Given the description of an element on the screen output the (x, y) to click on. 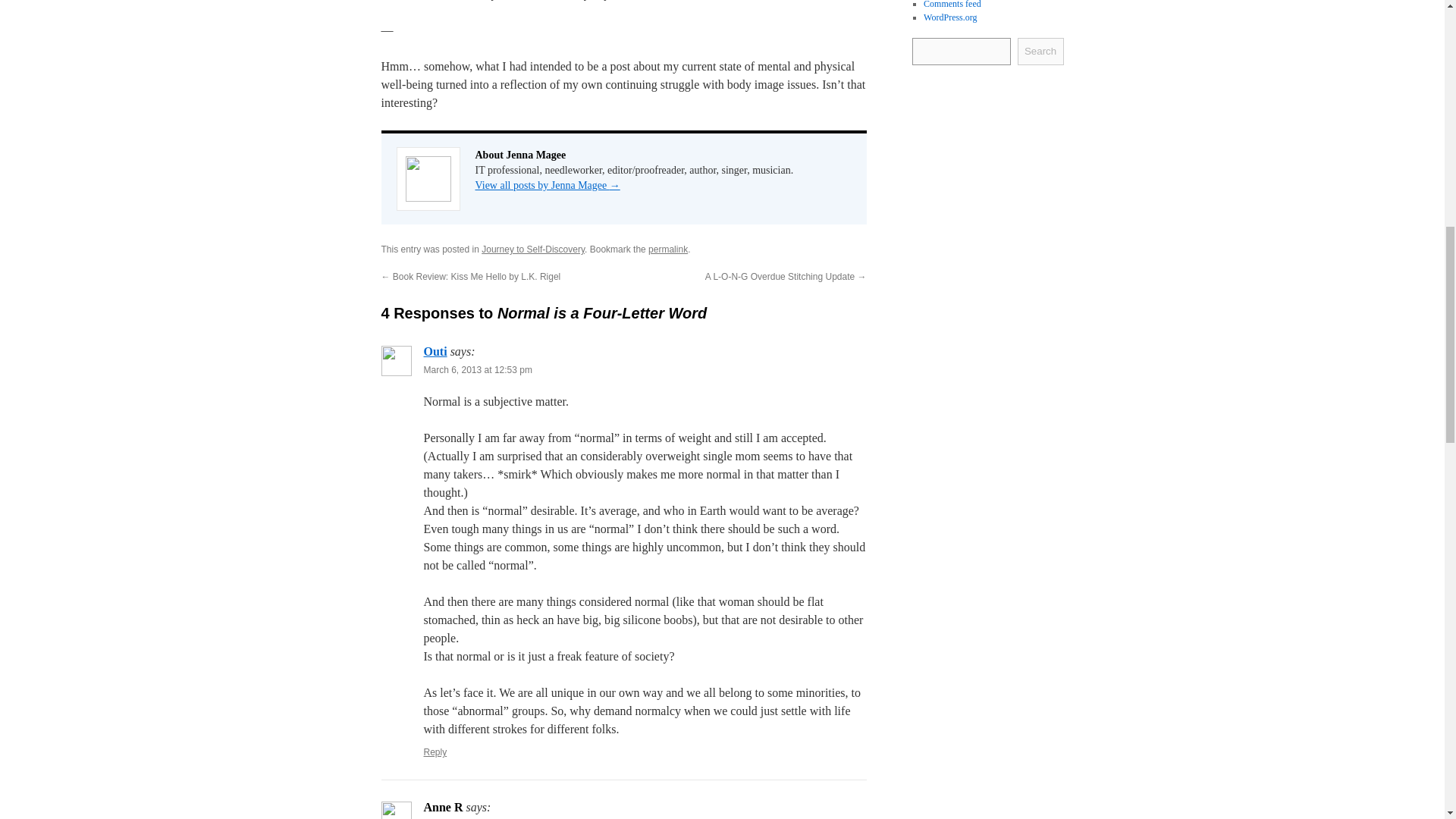
Permalink to Normal is a Four-Letter Word (667, 249)
